Given the description of an element on the screen output the (x, y) to click on. 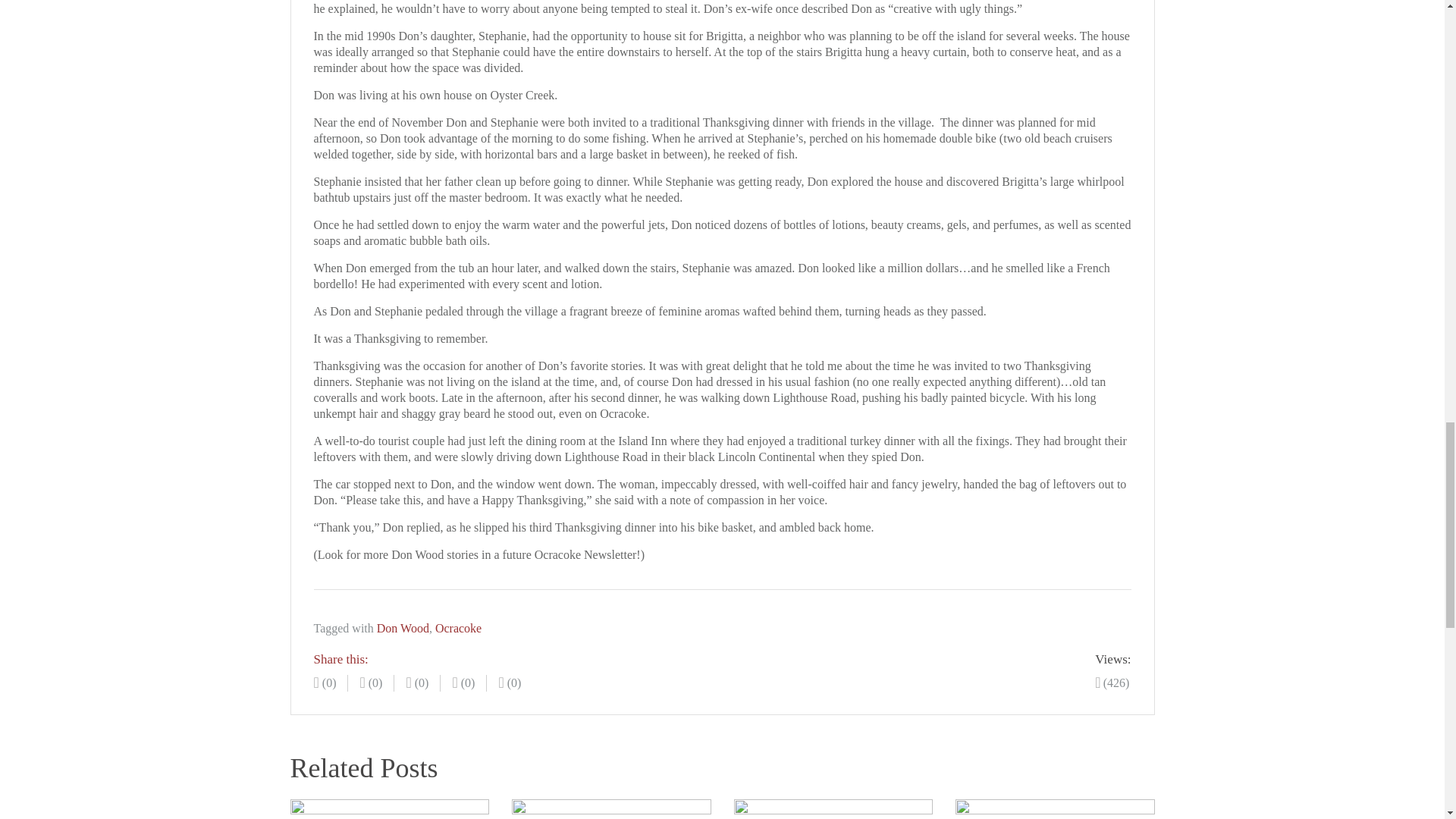
Don Wood (403, 627)
Ocracoke (458, 627)
